Given the description of an element on the screen output the (x, y) to click on. 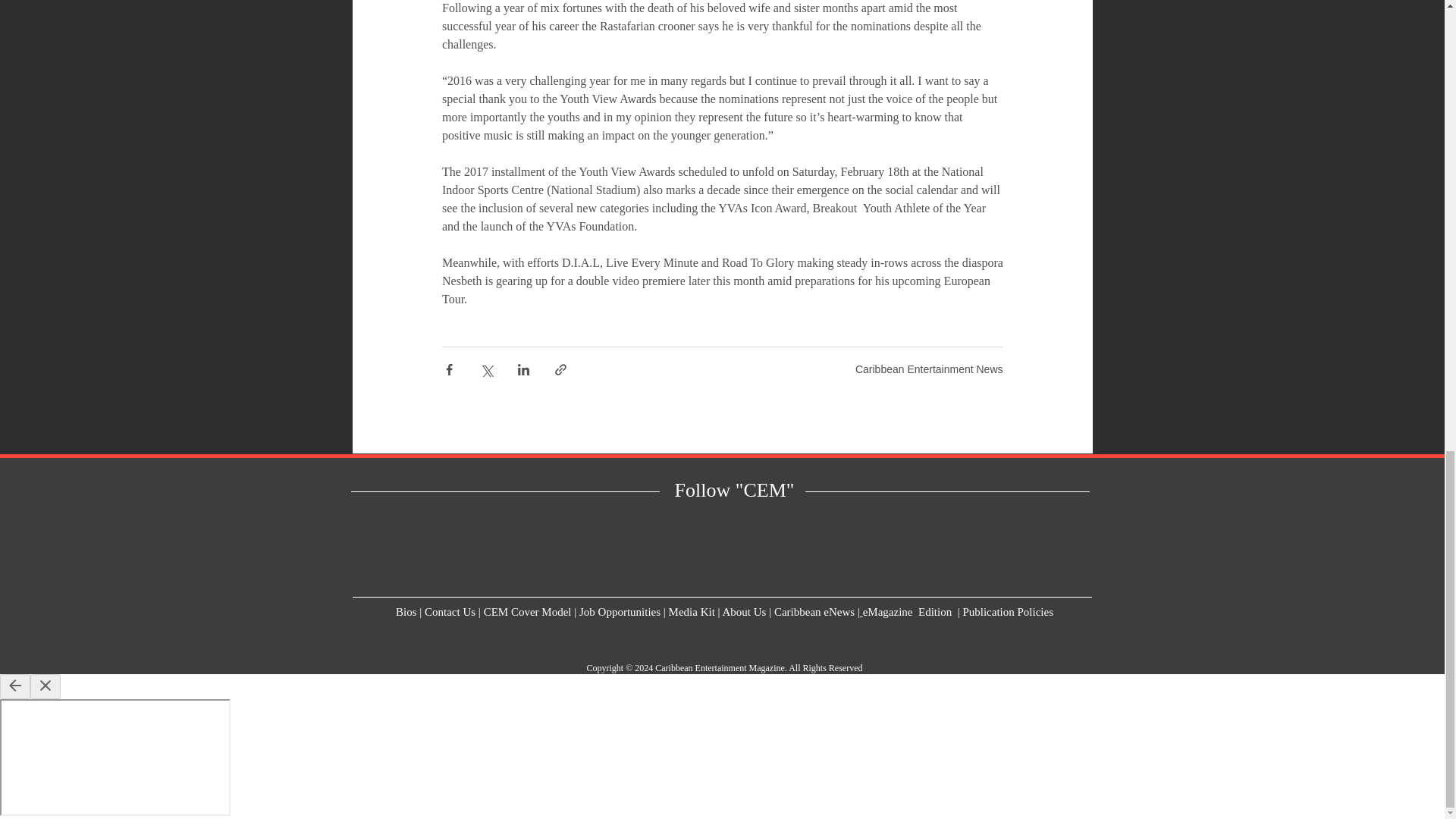
Bios (406, 612)
Caribbean Entertainment News (929, 369)
Contact Us (450, 612)
